Given the description of an element on the screen output the (x, y) to click on. 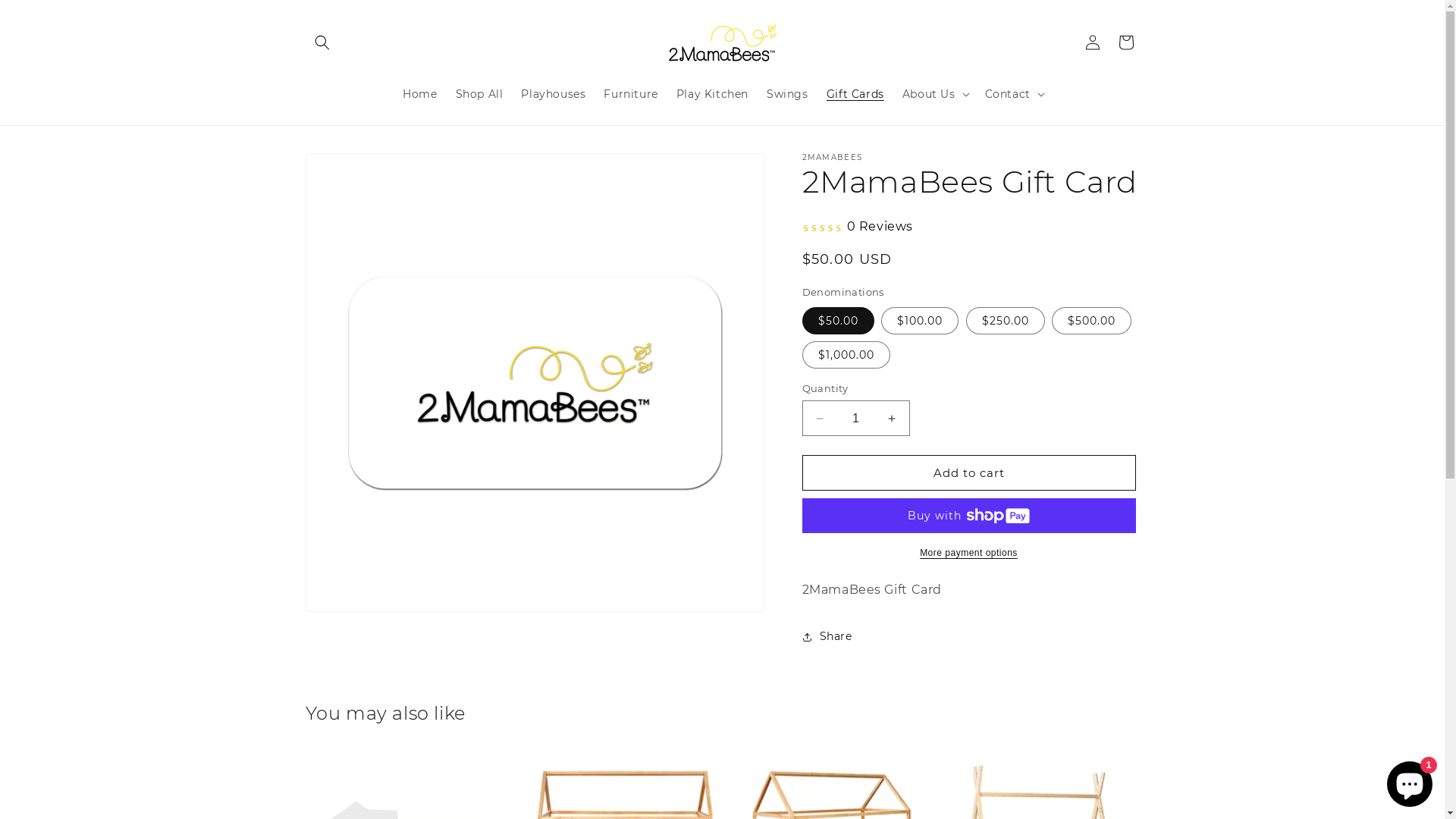
Decrease quantity for 2MamaBees Gift Card Element type: text (819, 418)
Skip to product information Element type: text (350, 170)
Log in Element type: text (1091, 42)
Playhouses Element type: text (552, 93)
More payment options Element type: text (968, 552)
Increase quantity for 2MamaBees Gift Card Element type: text (892, 418)
Shop All Element type: text (479, 93)
Cart Element type: text (1125, 42)
Furniture Element type: text (630, 93)
Gift Cards Element type: text (855, 93)
0 Reviews Element type: text (857, 227)
https://2mamabees.com/products/2mamabees-gift-card Element type: text (892, 694)
Play Kitchen Element type: text (712, 93)
Swings Element type: text (787, 93)
Add to cart Element type: text (968, 472)
Home Element type: text (419, 93)
Shopify online store chat Element type: hover (1409, 780)
